Given the description of an element on the screen output the (x, y) to click on. 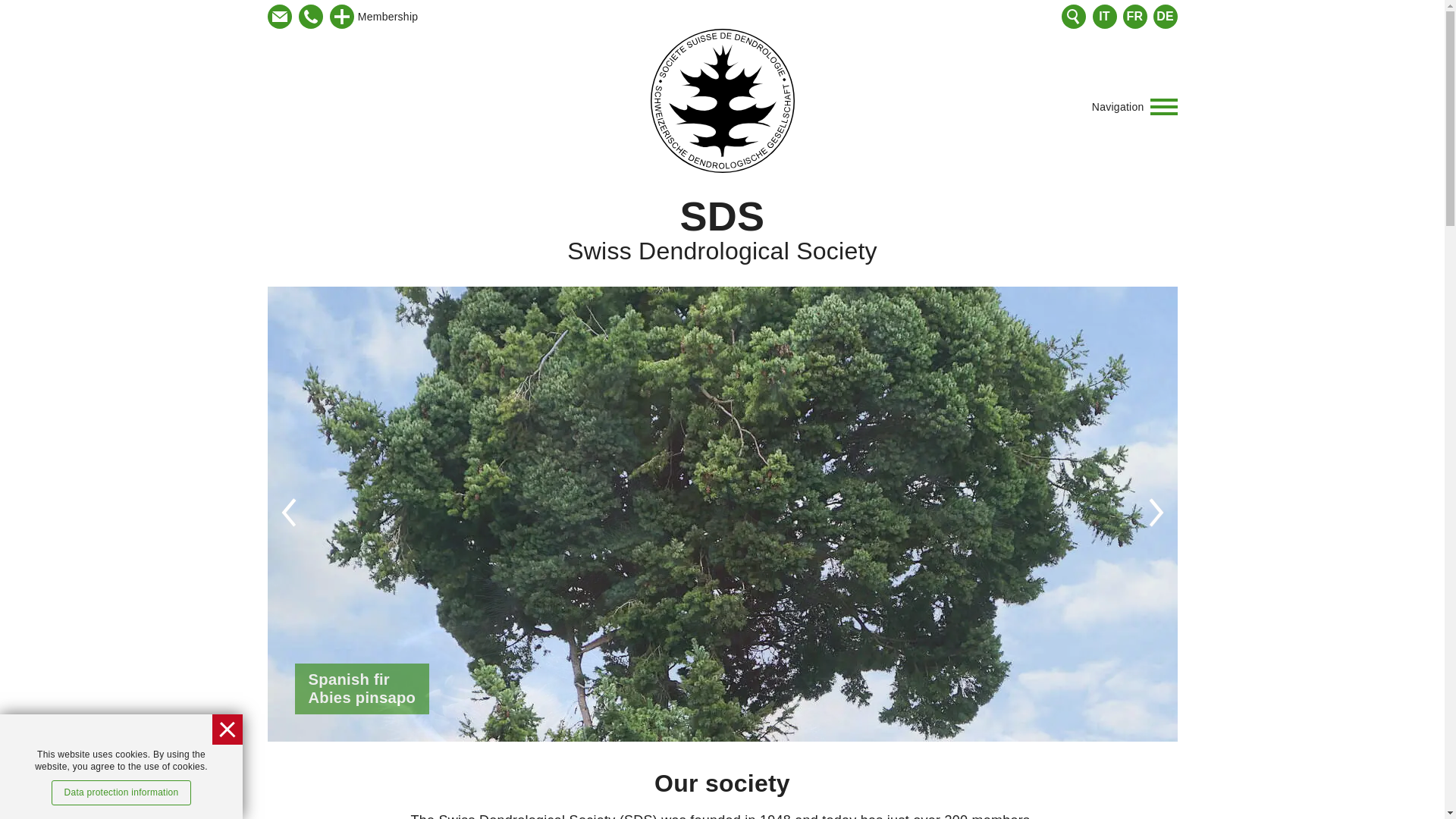
DE (722, 236)
Zur Startseite (1163, 16)
FR (722, 236)
E-mail to SDS (1134, 16)
IT (278, 16)
SDS Membership (1105, 16)
To the home page (341, 16)
SDS - call us (722, 100)
